Given the description of an element on the screen output the (x, y) to click on. 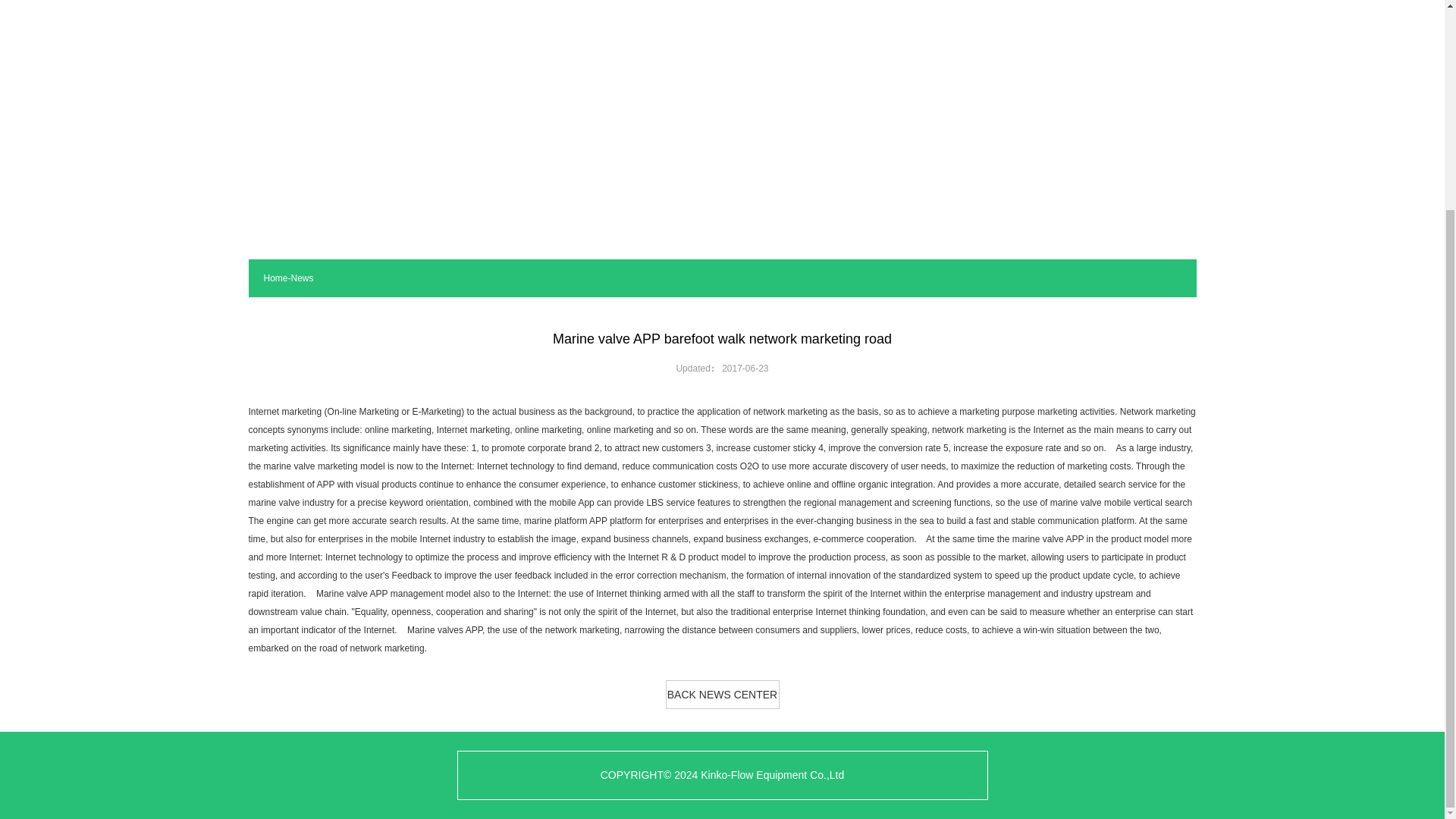
News (302, 277)
Home (275, 277)
BACK NEWS CENTER (721, 694)
